Given the description of an element on the screen output the (x, y) to click on. 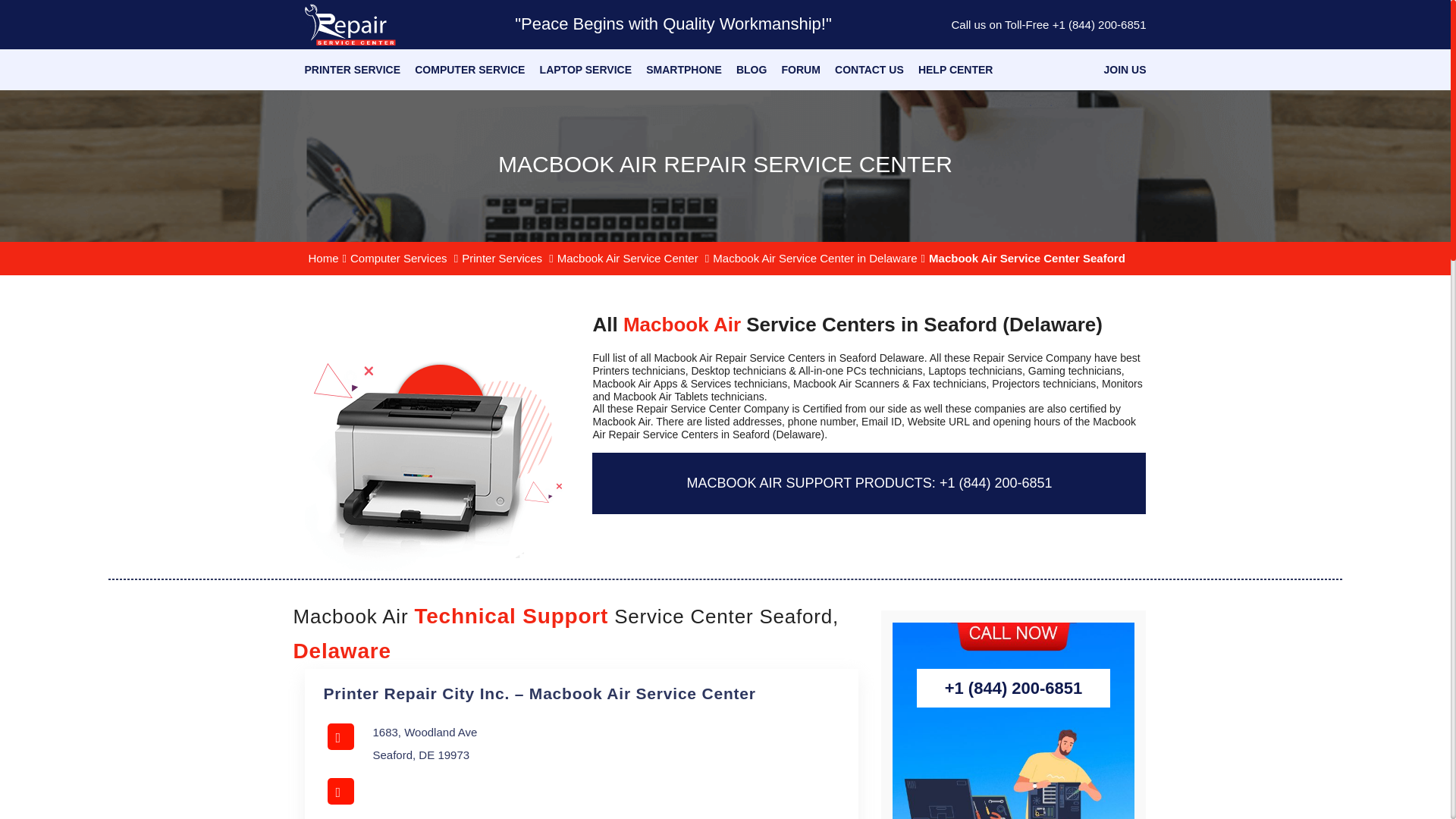
Contact Us (869, 69)
Smartphone Service (684, 69)
COMPUTER SERVICE (469, 69)
CONTACT US (869, 69)
Home (323, 258)
Computer Services (398, 258)
Printer Service (352, 69)
Macbook Air Service Center in Delaware (814, 258)
Forum (801, 69)
Macbook Air Service Center (627, 258)
BLOG (751, 69)
LAPTOP SERVICE (585, 69)
Join Us (1124, 69)
SMARTPHONE (684, 69)
FORUM (801, 69)
